Given the description of an element on the screen output the (x, y) to click on. 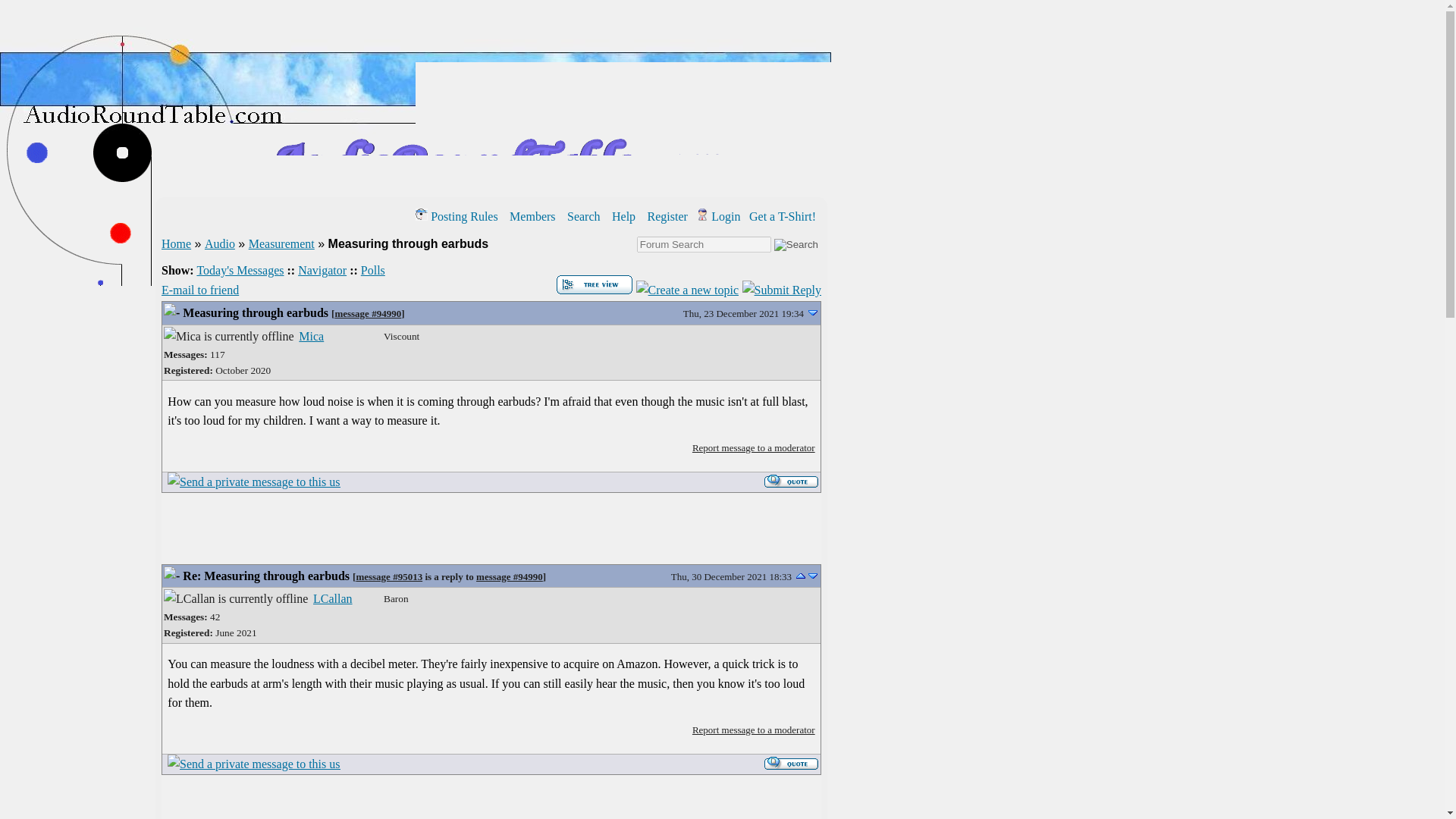
Audio (219, 243)
Members (530, 215)
Help (621, 215)
Go to next message (812, 312)
Home (175, 243)
Report message to a moderator (754, 447)
E-mail to friend (199, 289)
Show all messages that were posted today (239, 269)
Register (666, 215)
Help (621, 215)
LCallan (332, 598)
Mica (310, 336)
Opens in a new window (782, 215)
Login (717, 215)
Mica is currently offline (228, 336)
